Given the description of an element on the screen output the (x, y) to click on. 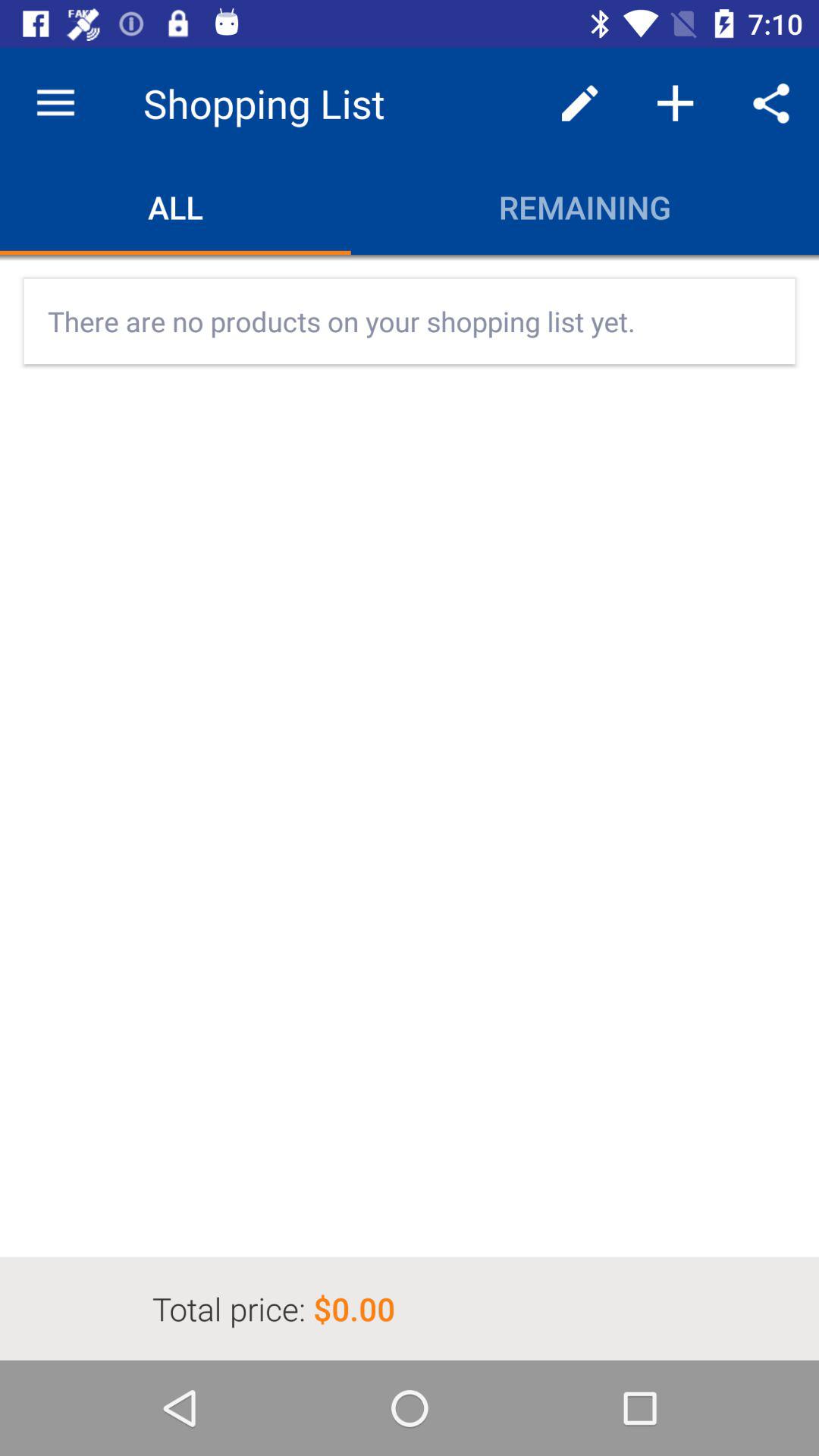
open the icon next to the shopping list app (55, 103)
